Given the description of an element on the screen output the (x, y) to click on. 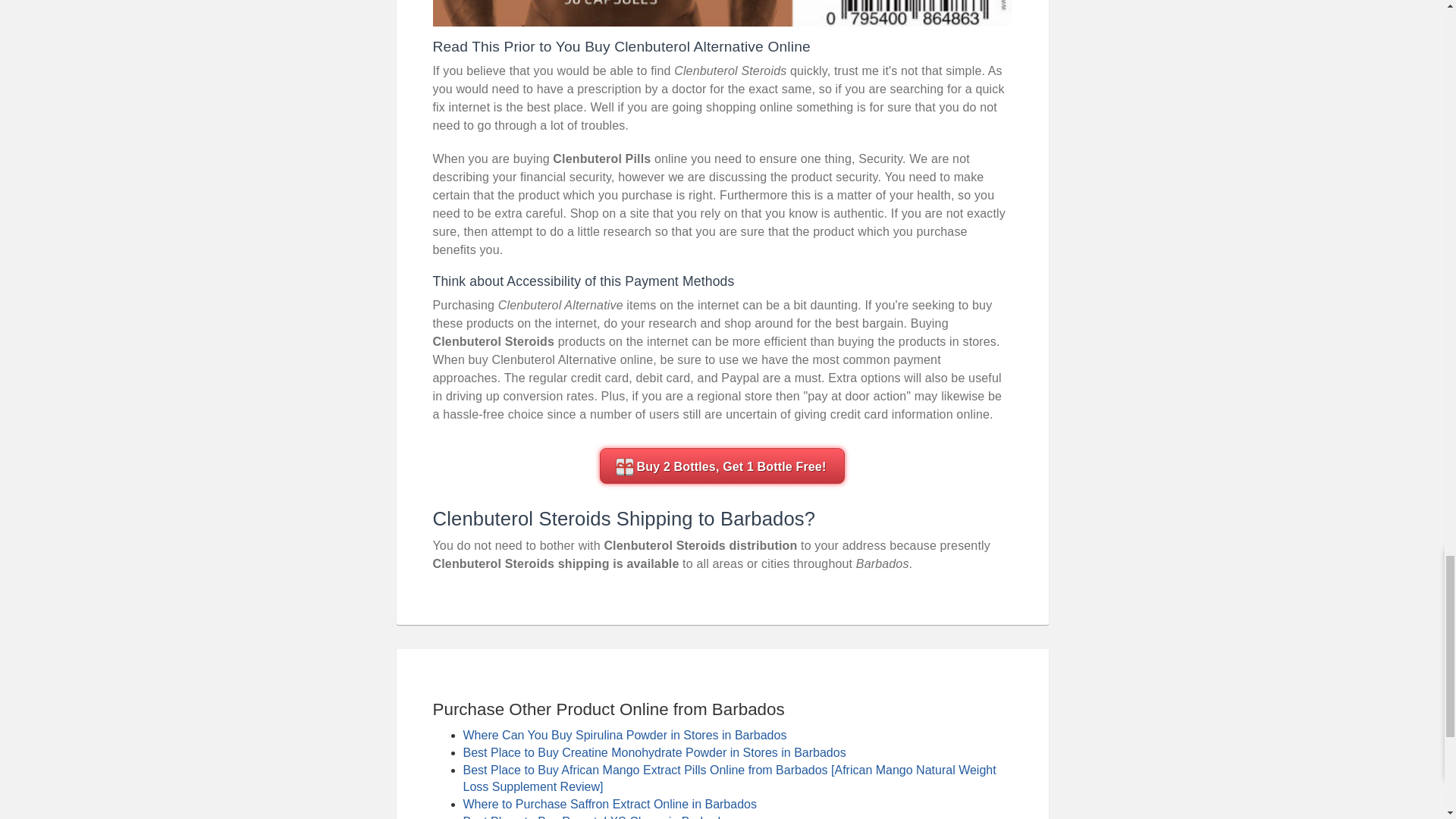
Where Can You Buy Spirulina Powder in Stores in Barbados (624, 735)
Best Place to Buy Proactol XS Cheap in Barbados (598, 816)
Where to Purchase Saffron Extract Online in Barbados (609, 803)
Best Place to Buy Proactol XS Cheap in Barbados (598, 816)
Where to Purchase Saffron Extract Online in Barbados (609, 803)
Where Can You Buy Spirulina Powder in Stores in Barbados (624, 735)
